Given the description of an element on the screen output the (x, y) to click on. 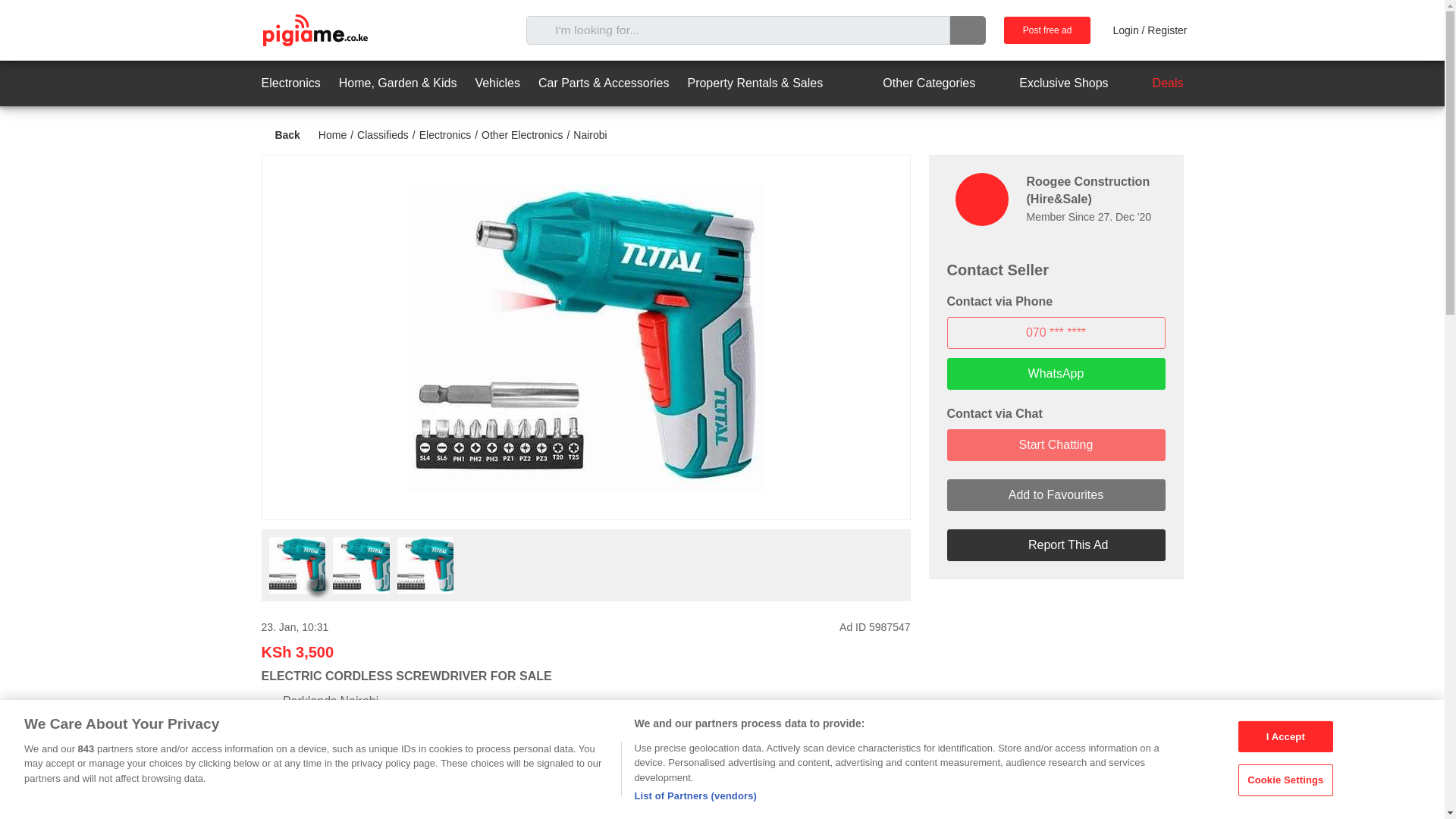
Add to Favourites (1055, 495)
PigiaMe (314, 29)
Exclusive Shops (1050, 83)
Home (332, 134)
Report This Ad (1055, 545)
Nairobi (590, 134)
Back (279, 134)
Electronics (444, 134)
Start Chatting (1055, 445)
Classifieds (382, 134)
Other Categories (915, 83)
WhatsApp (1055, 373)
Post free ad (1047, 30)
Vehicles (497, 83)
Deals (1155, 83)
